Given the description of an element on the screen output the (x, y) to click on. 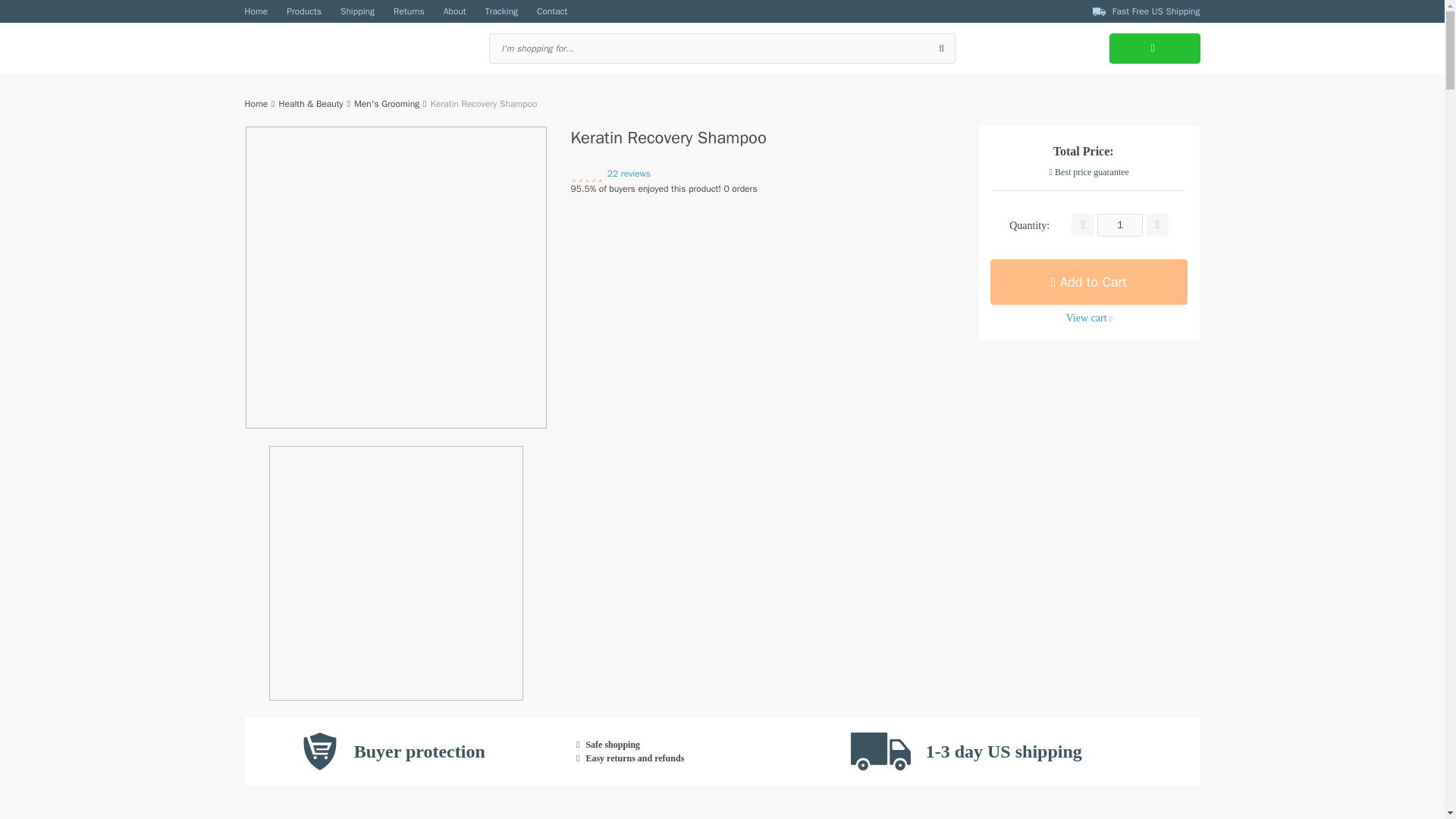
1 (1119, 224)
